Given the description of an element on the screen output the (x, y) to click on. 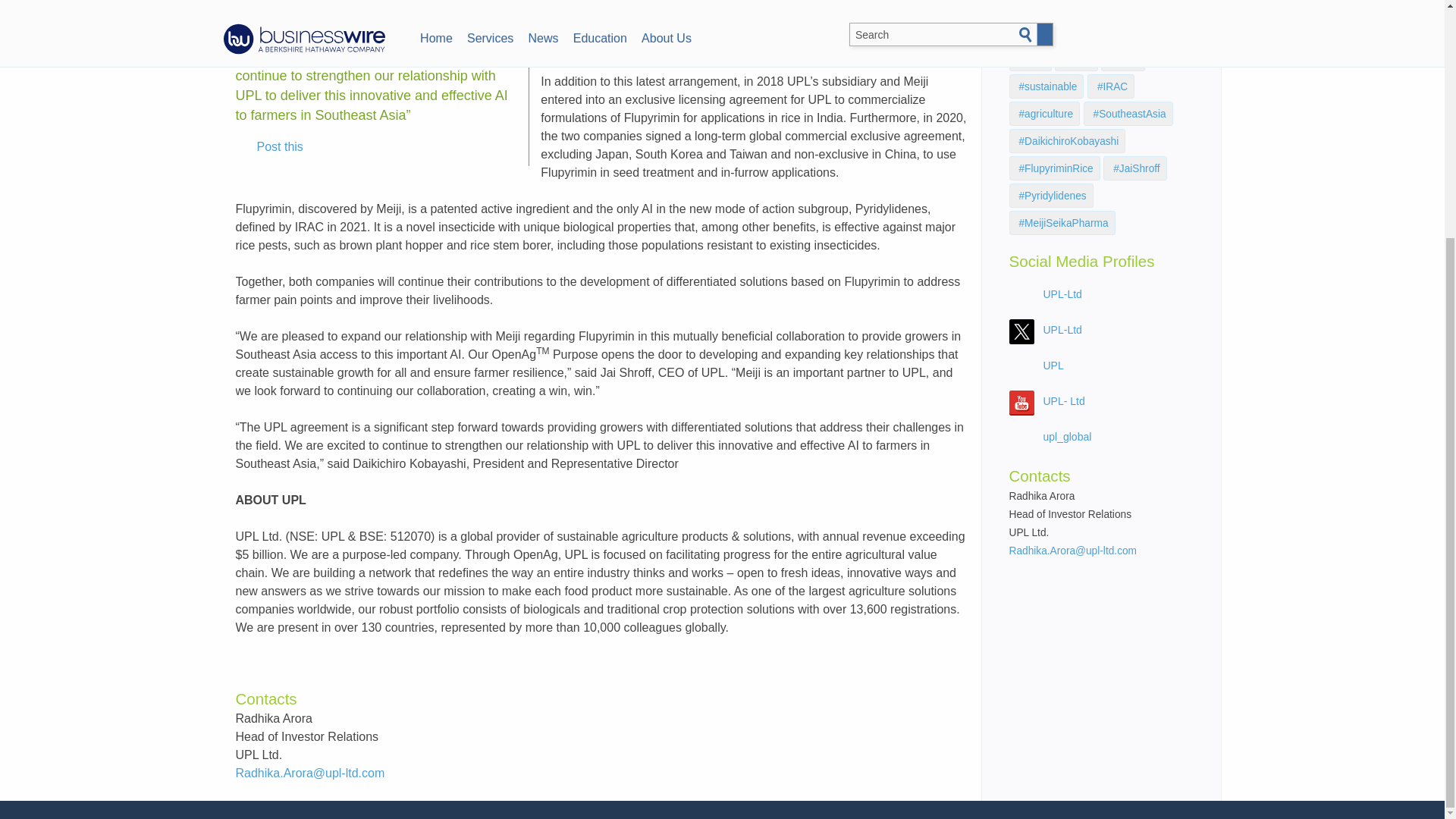
UPL-Ltd (1062, 294)
Post this (269, 146)
UPL (1053, 365)
UPL-Ltd (1062, 329)
UPL- Ltd (1063, 400)
